Given the description of an element on the screen output the (x, y) to click on. 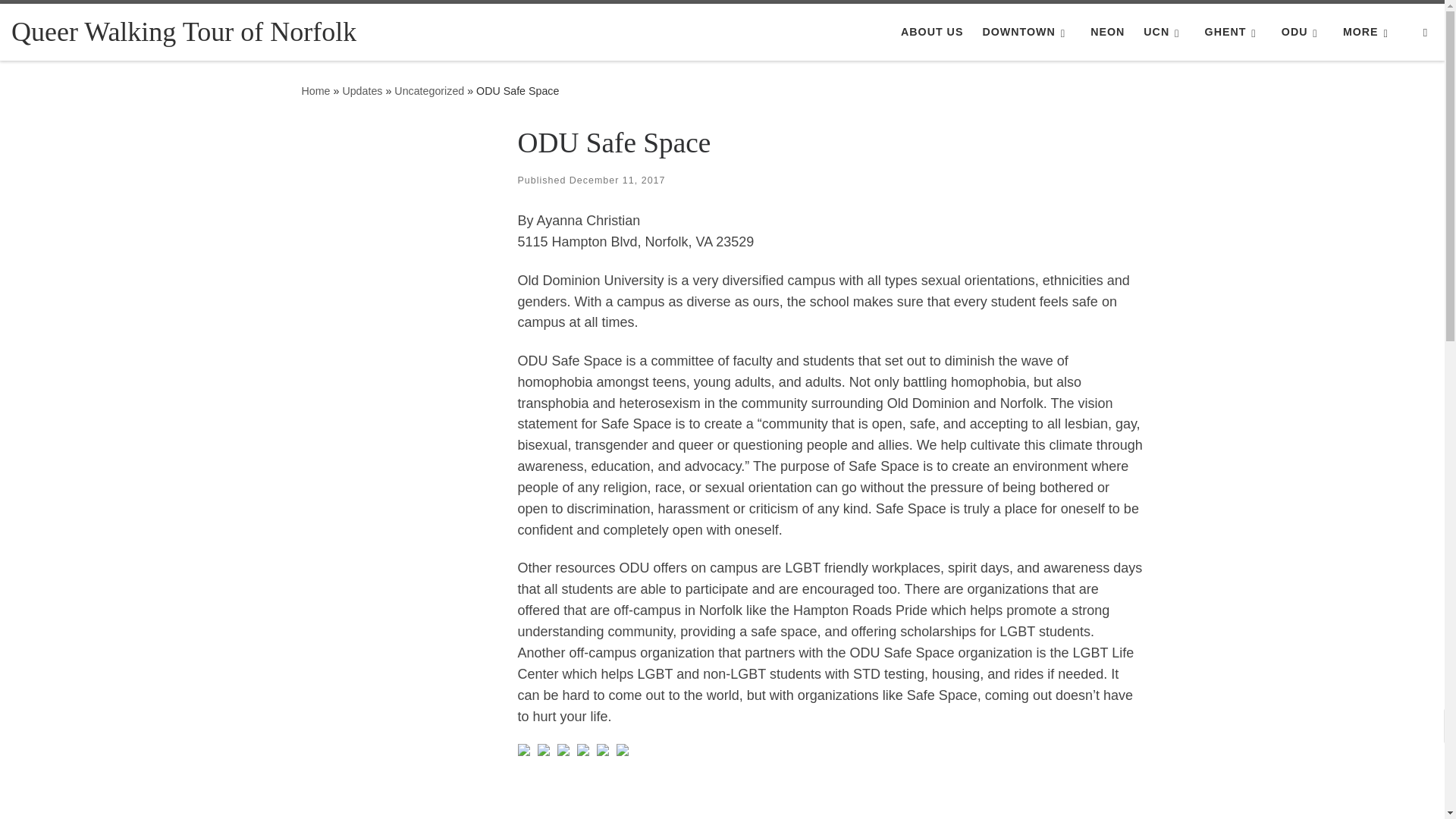
Share by email (621, 748)
DOWNTOWN (1025, 31)
UCN (1164, 31)
NEON (1107, 31)
Share on Reddit (562, 748)
Pin it with Pinterest (582, 748)
MORE (1368, 31)
Share on Twitter (542, 748)
5:53 pm (617, 180)
Skip to content (60, 20)
